Given the description of an element on the screen output the (x, y) to click on. 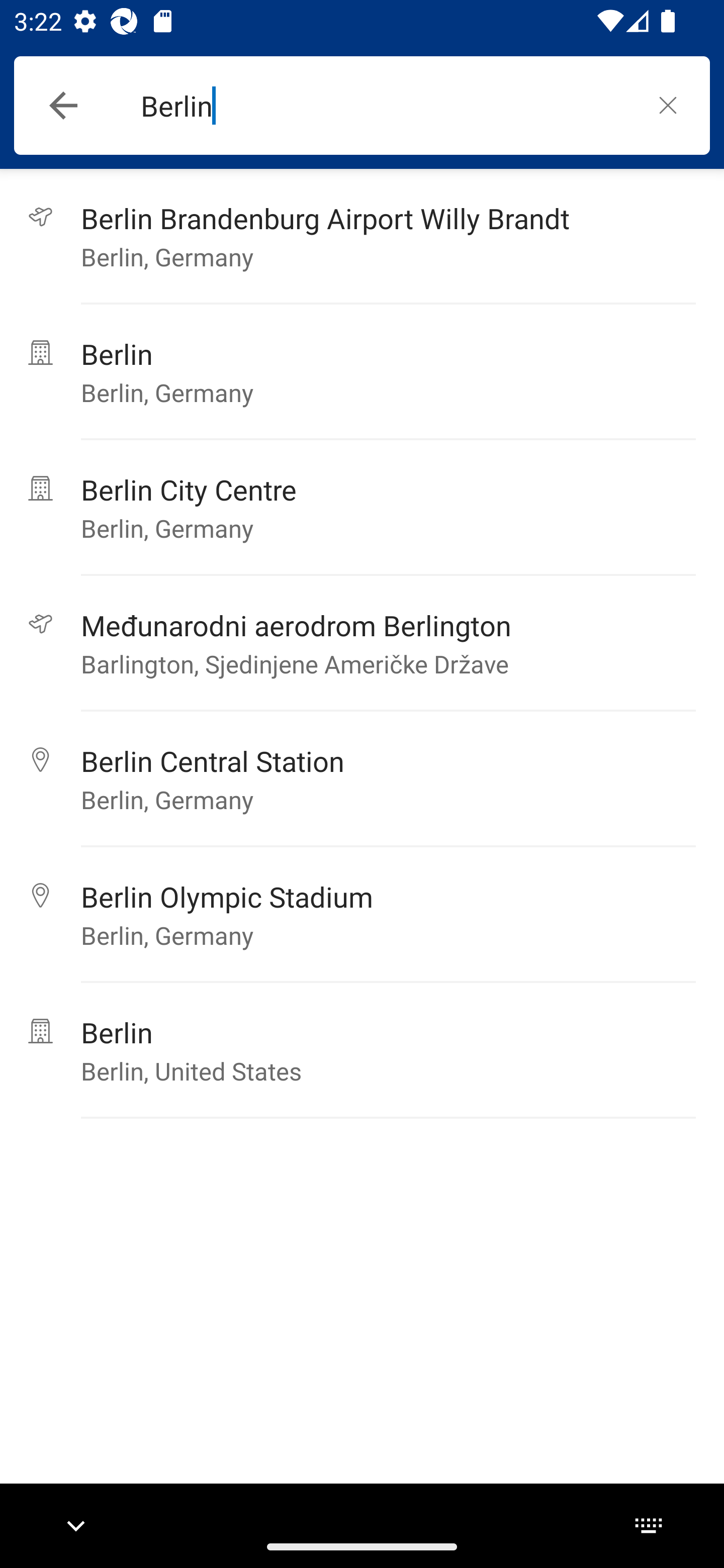
Navigate up (62, 105)
놕 (667, 104)
Berlin (382, 105)
넭 Berlin Berlin, Germany (362, 372)
넭 Berlin City Centre Berlin, Germany (362, 507)
낍 Berlin Central Station Berlin, Germany (362, 778)
낍 Berlin Olympic Stadium Berlin, Germany (362, 914)
넭 Berlin Berlin, United States (362, 1050)
